Given the description of an element on the screen output the (x, y) to click on. 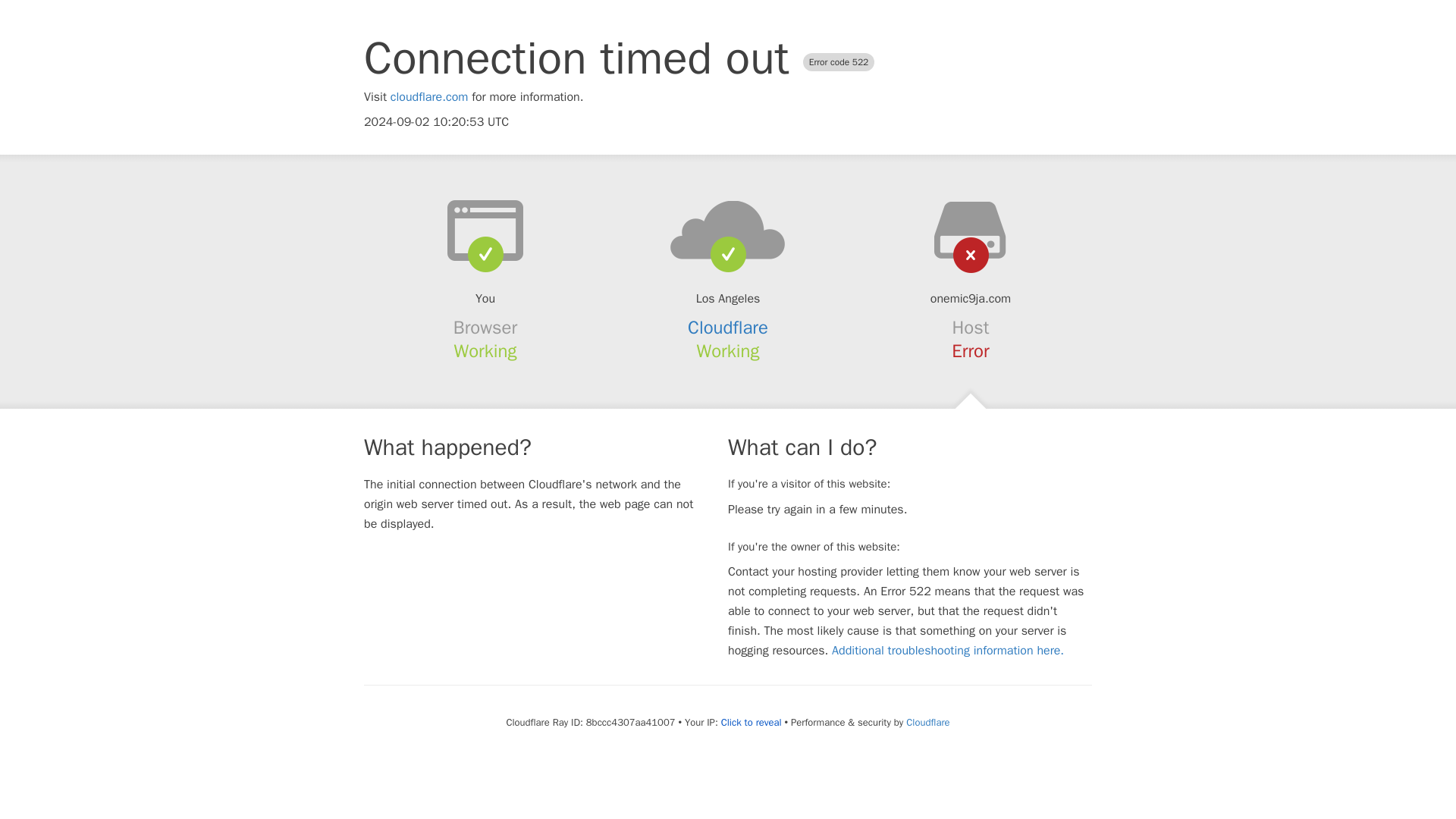
Cloudflare (927, 721)
Cloudflare (727, 327)
Additional troubleshooting information here. (947, 650)
cloudflare.com (429, 96)
Click to reveal (750, 722)
